Given the description of an element on the screen output the (x, y) to click on. 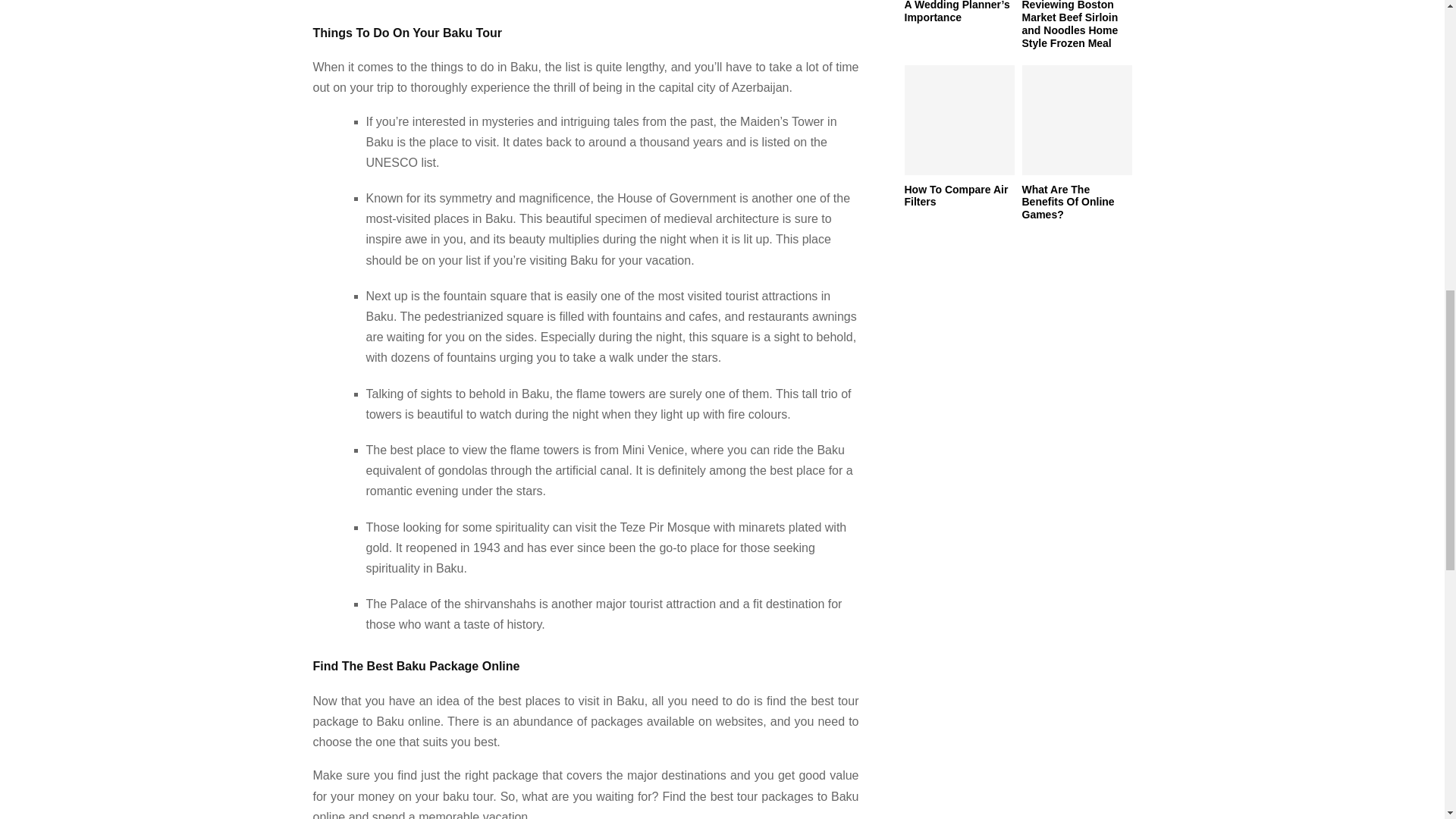
How To Compare Air Filters (958, 120)
 What Are The Benefits Of Online Games?  (1068, 202)
What Are The Benefits Of Online Games? (1077, 120)
 How To Compare Air Filters  (955, 195)
